Given the description of an element on the screen output the (x, y) to click on. 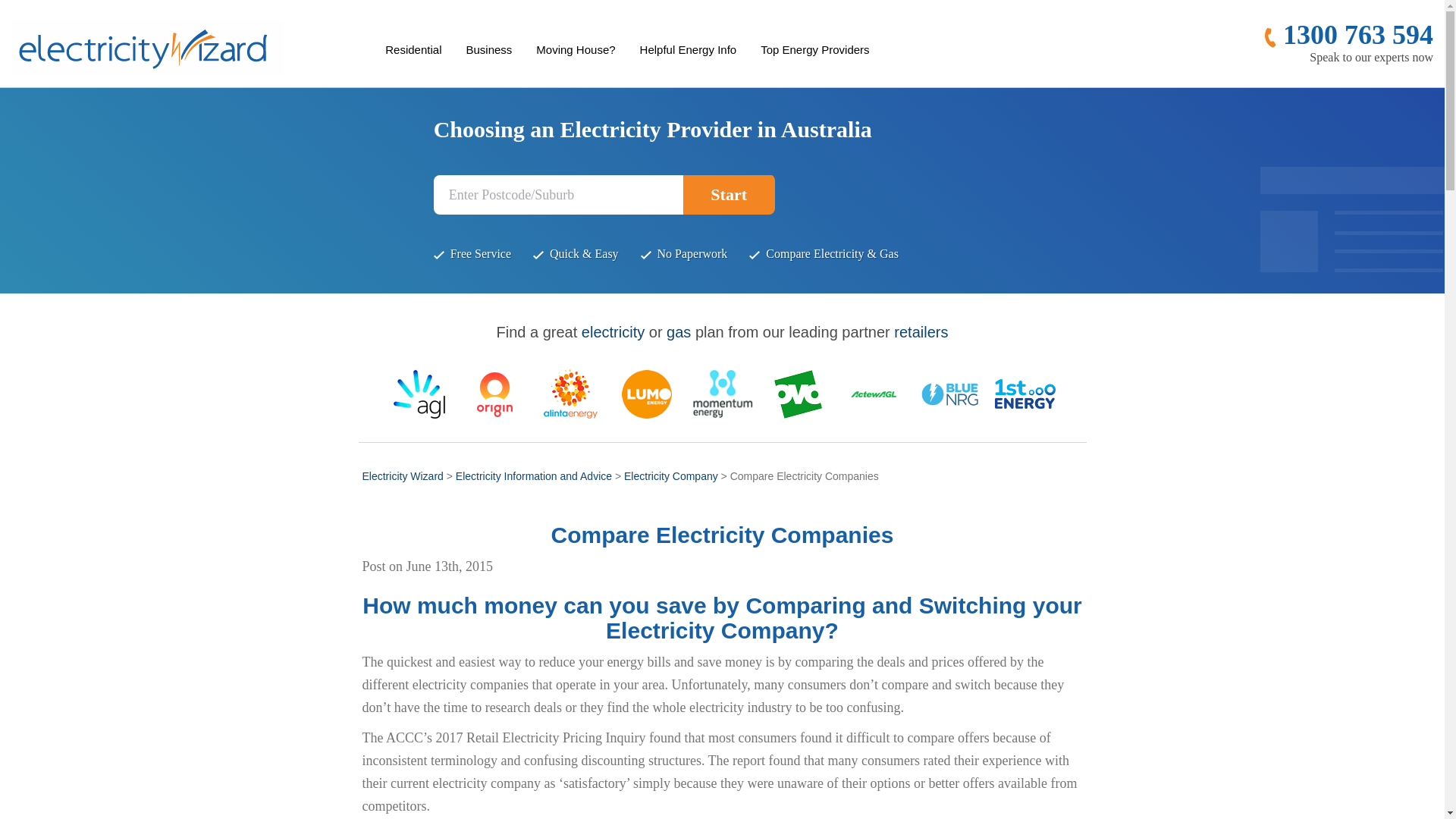
Top Energy Providers (814, 49)
Go to Electricity Wizard. (403, 476)
Go to Electricity Information and Advice. (533, 476)
Moving House? (575, 49)
1300 763 594 (1348, 34)
Helpful Energy Info (687, 49)
Business (488, 49)
Residential (412, 49)
Go to Electricity Company. (670, 476)
